Given the description of an element on the screen output the (x, y) to click on. 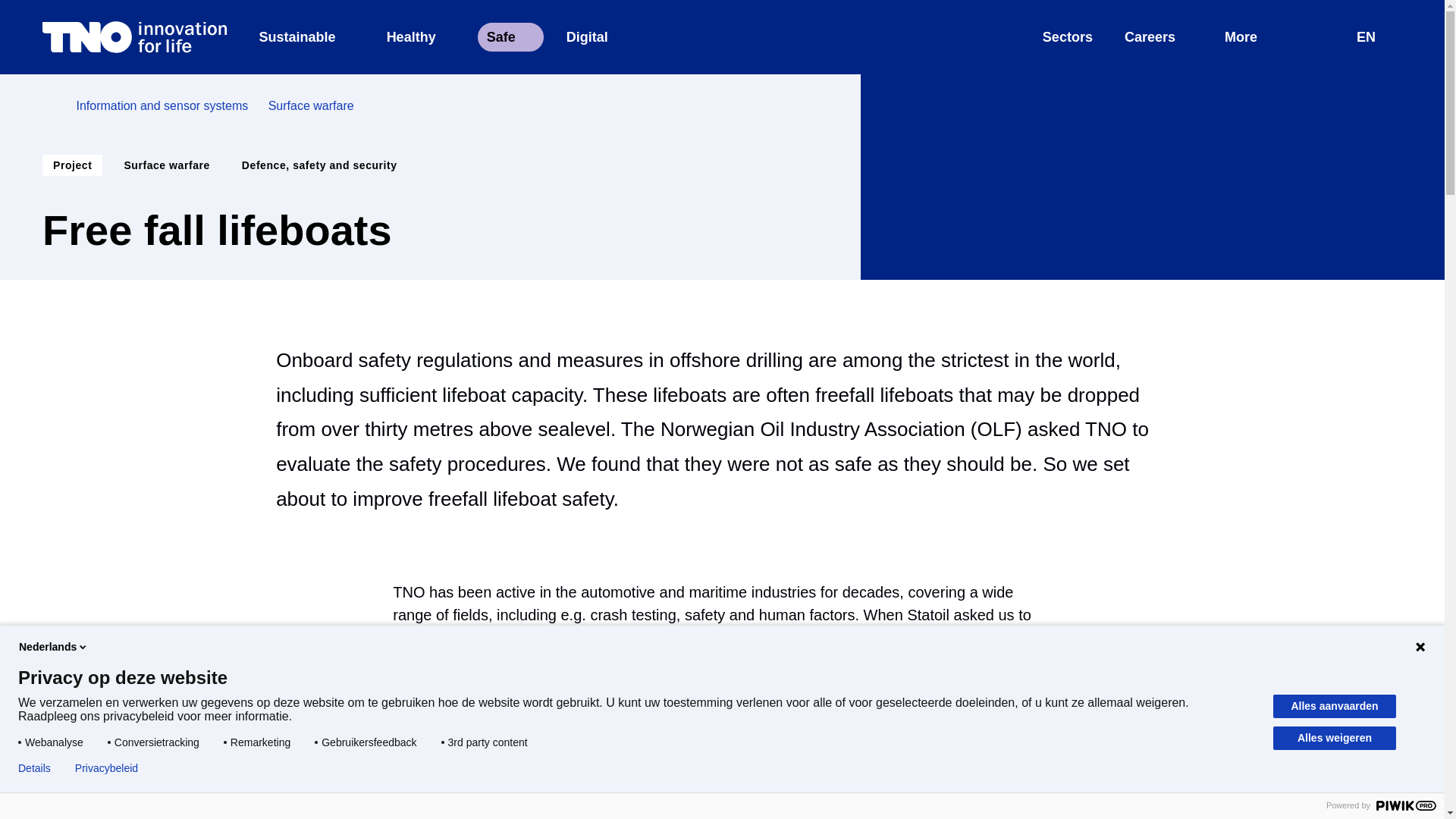
Healthy (420, 37)
Sustainable (306, 37)
Careers (1159, 37)
Piwik PRO (1405, 805)
Digital (596, 37)
Surface warfare (310, 106)
Skip to the content (722, 8)
Safe (1373, 37)
English (510, 37)
